Given the description of an element on the screen output the (x, y) to click on. 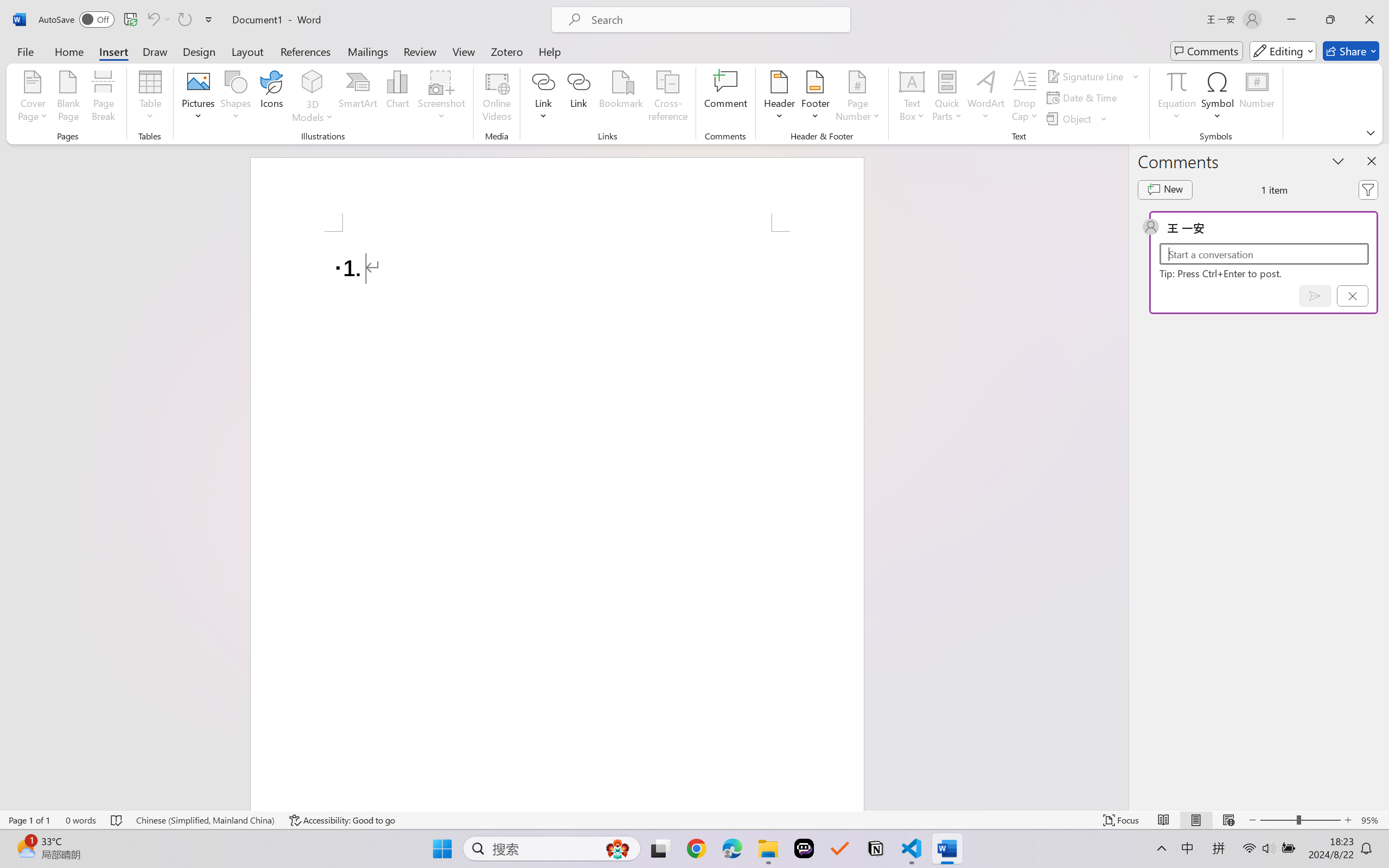
Text Box (912, 97)
Chart... (396, 97)
WordArt (986, 97)
Page Break (103, 97)
Object... (1077, 118)
Object... (1070, 118)
Icons (271, 97)
3D Models (312, 97)
